Given the description of an element on the screen output the (x, y) to click on. 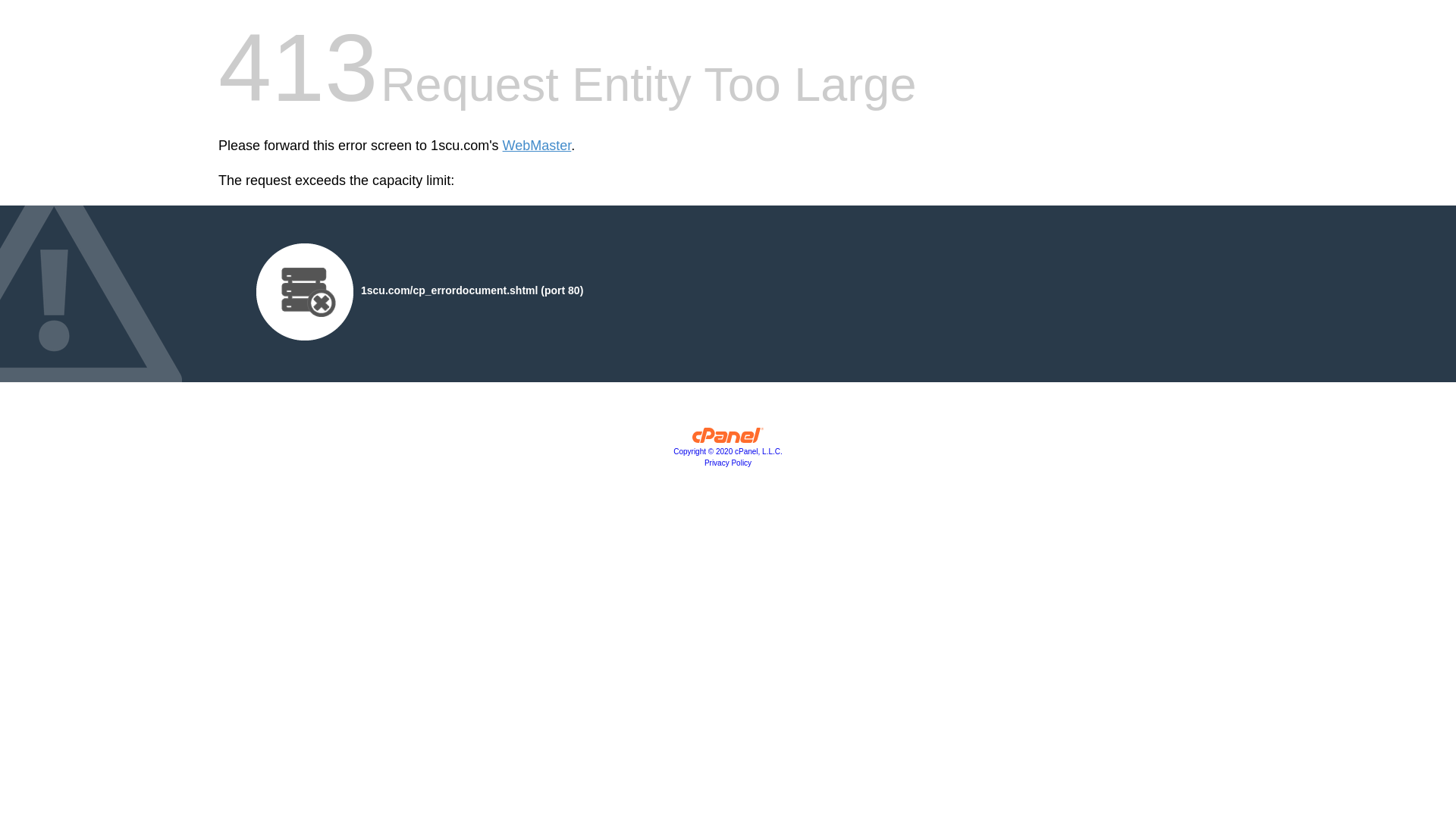
Privacy Policy Element type: text (727, 462)
cPanel, Inc. Element type: hover (728, 439)
WebMaster Element type: text (536, 145)
